Given the description of an element on the screen output the (x, y) to click on. 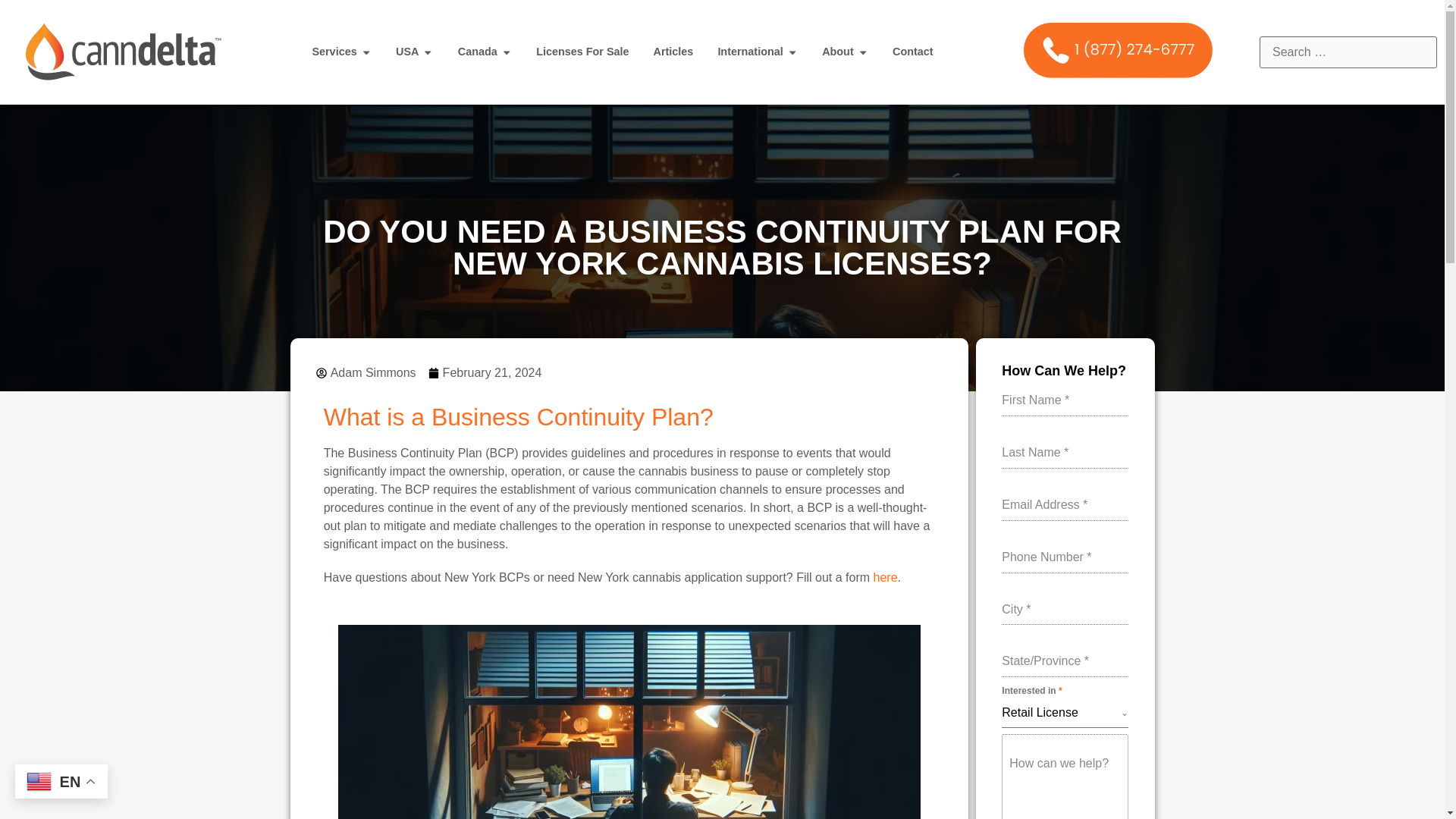
Retail License (1061, 712)
Articles (673, 52)
Licenses For Sale (581, 52)
Contact (912, 52)
